Given the description of an element on the screen output the (x, y) to click on. 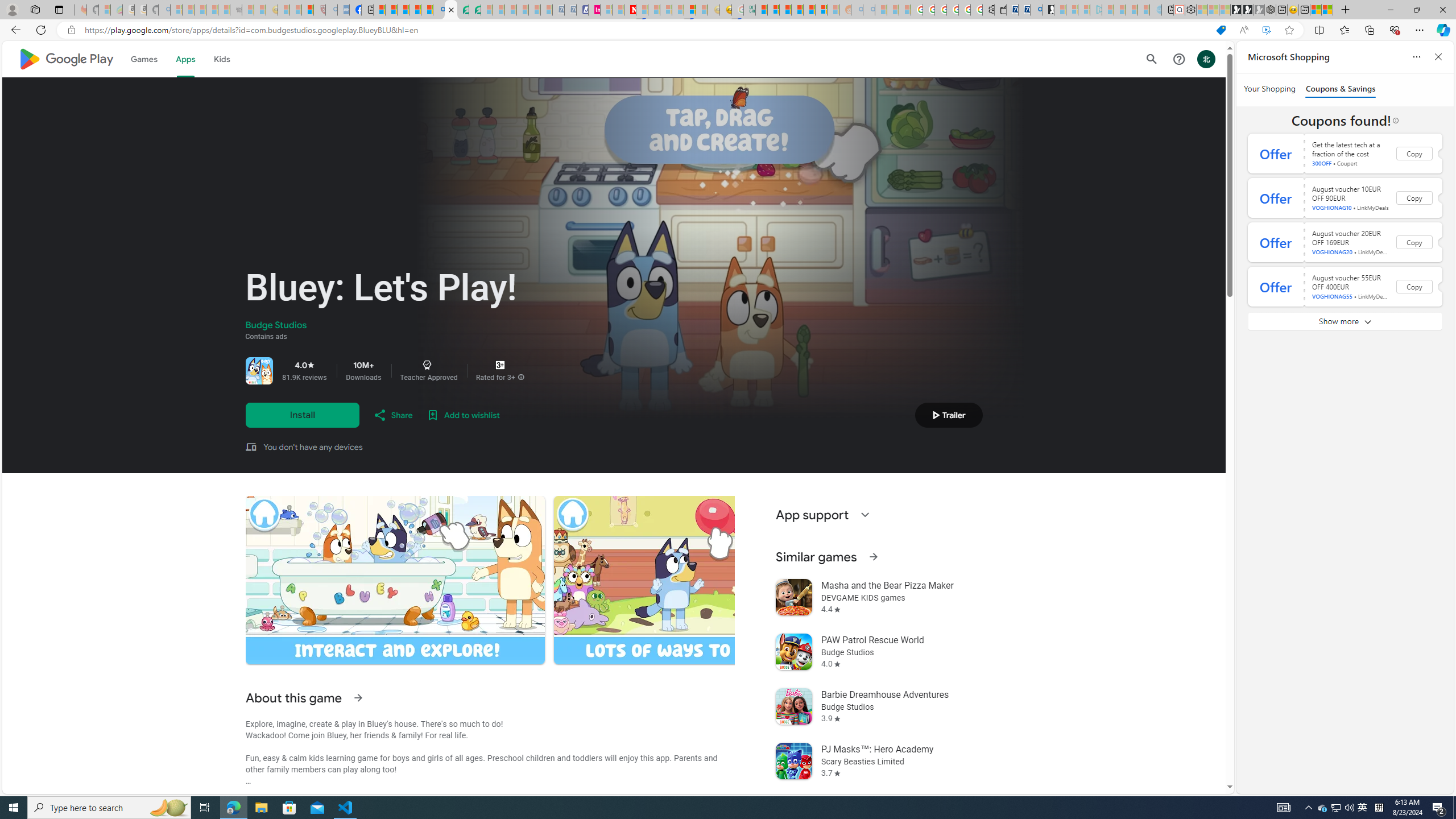
MSNBC - MSN (761, 9)
You don't have any devices (312, 447)
Play Free Online Games | Games from Microsoft Start (1235, 9)
Bing Real Estate - Home sales and rental listings (1035, 9)
More info about this content rating (520, 377)
Cheap Hotels - Save70.com - Sleeping (569, 9)
Share (392, 414)
Enhance video (1266, 29)
